Given the description of an element on the screen output the (x, y) to click on. 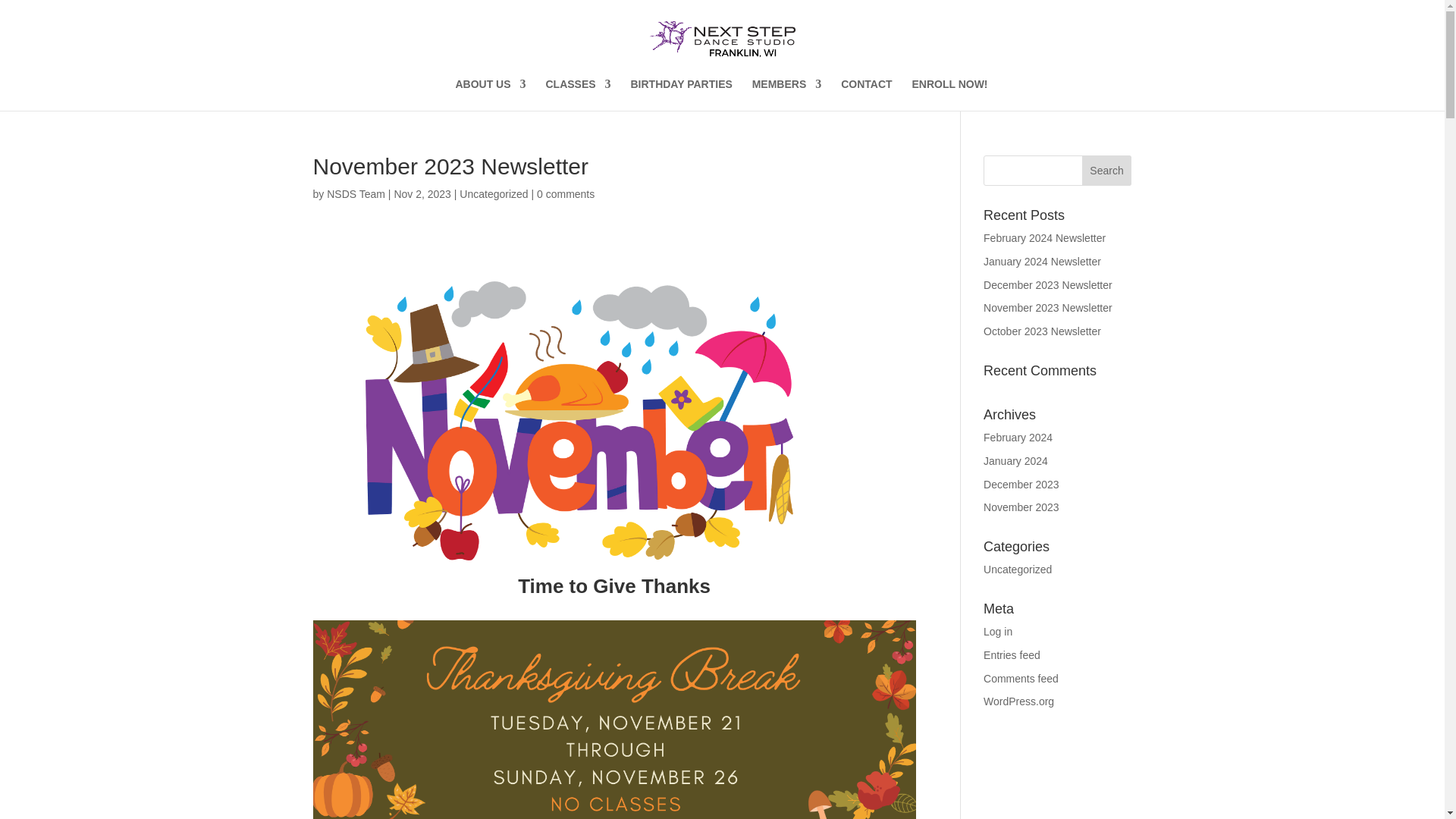
25fbba29-494d-4dfc-b369-d4a9e9197da4 (579, 420)
Uncategorized (493, 193)
CONTACT (866, 94)
ABOUT US (489, 94)
Search (1106, 170)
NSDS Team (355, 193)
0 comments (565, 193)
Posts by NSDS Team (355, 193)
BIRTHDAY PARTIES (681, 94)
CLASSES (577, 94)
